Given the description of an element on the screen output the (x, y) to click on. 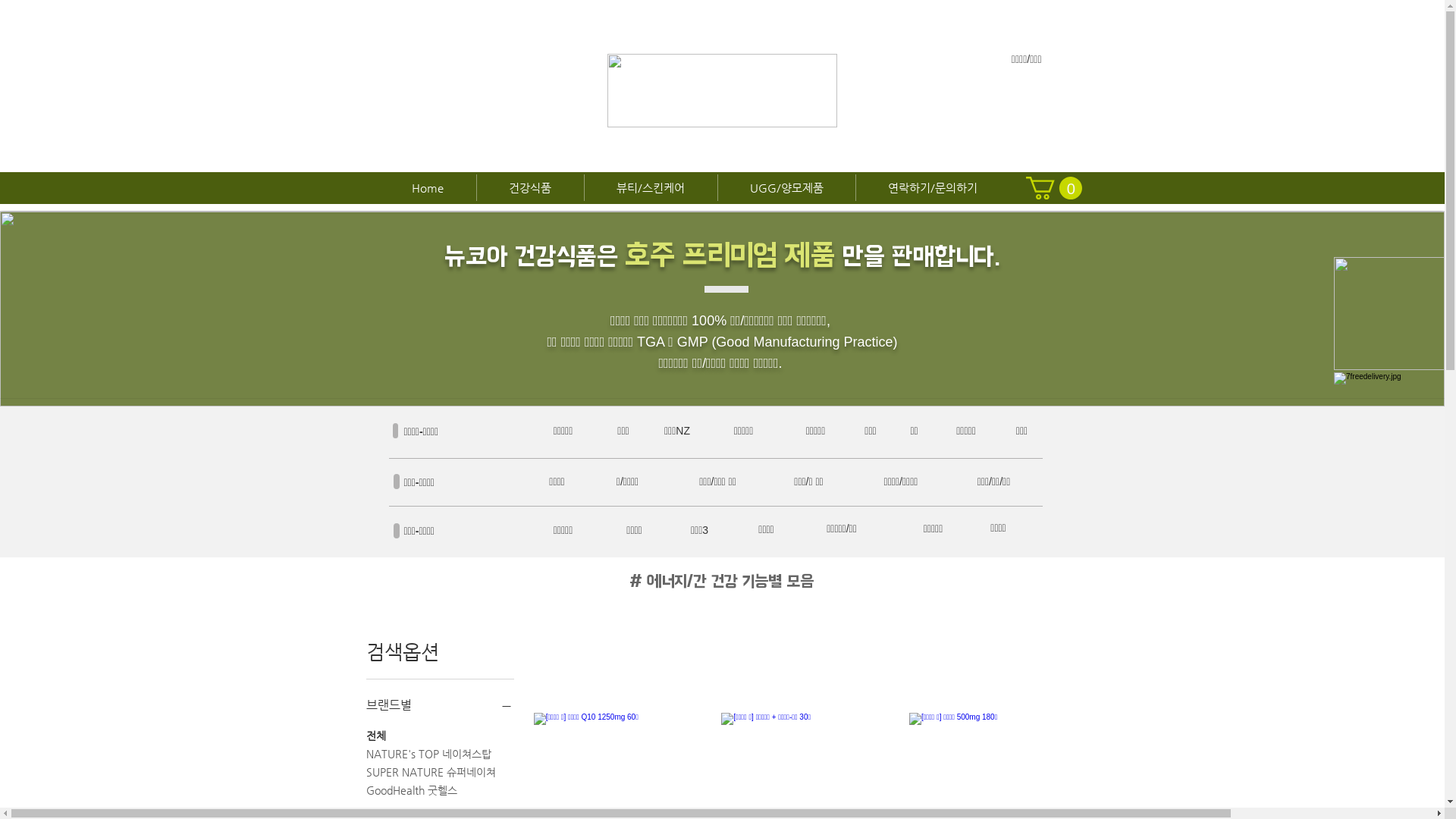
Home Element type: text (427, 187)
3kakao2.jpg Element type: hover (1388, 313)
0 Element type: text (1053, 187)
